Given the description of an element on the screen output the (x, y) to click on. 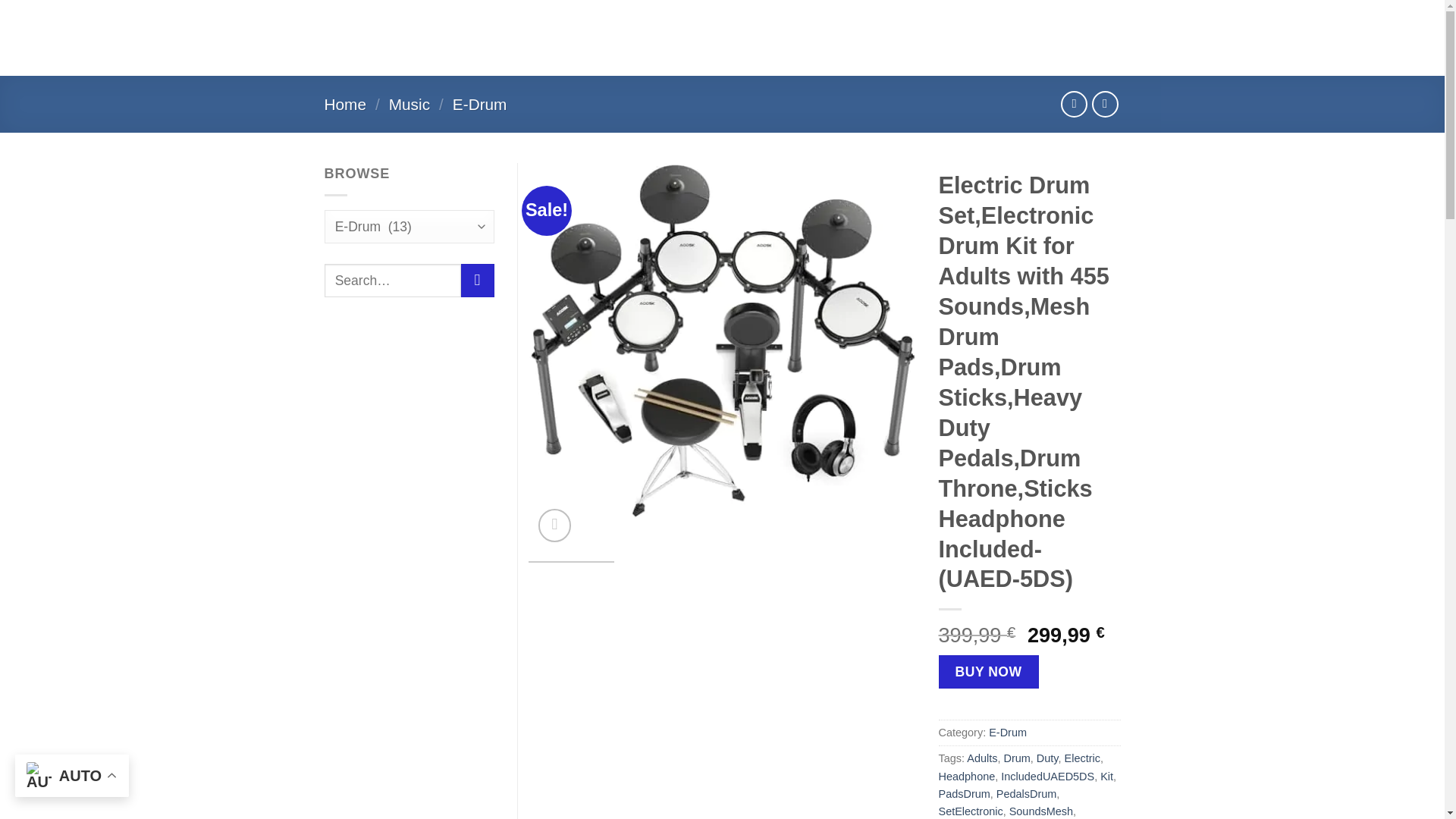
POLICY PAGE (792, 22)
BLOG (634, 22)
ABOUT US (542, 52)
Home (345, 104)
WEB-STORIES (701, 22)
SHOP (591, 22)
LOGIN (974, 37)
7KORES WEB STORIES (853, 52)
DISCLAIMER (617, 52)
CONTACT US (881, 22)
Cart (1068, 37)
Music (408, 104)
